Given the description of an element on the screen output the (x, y) to click on. 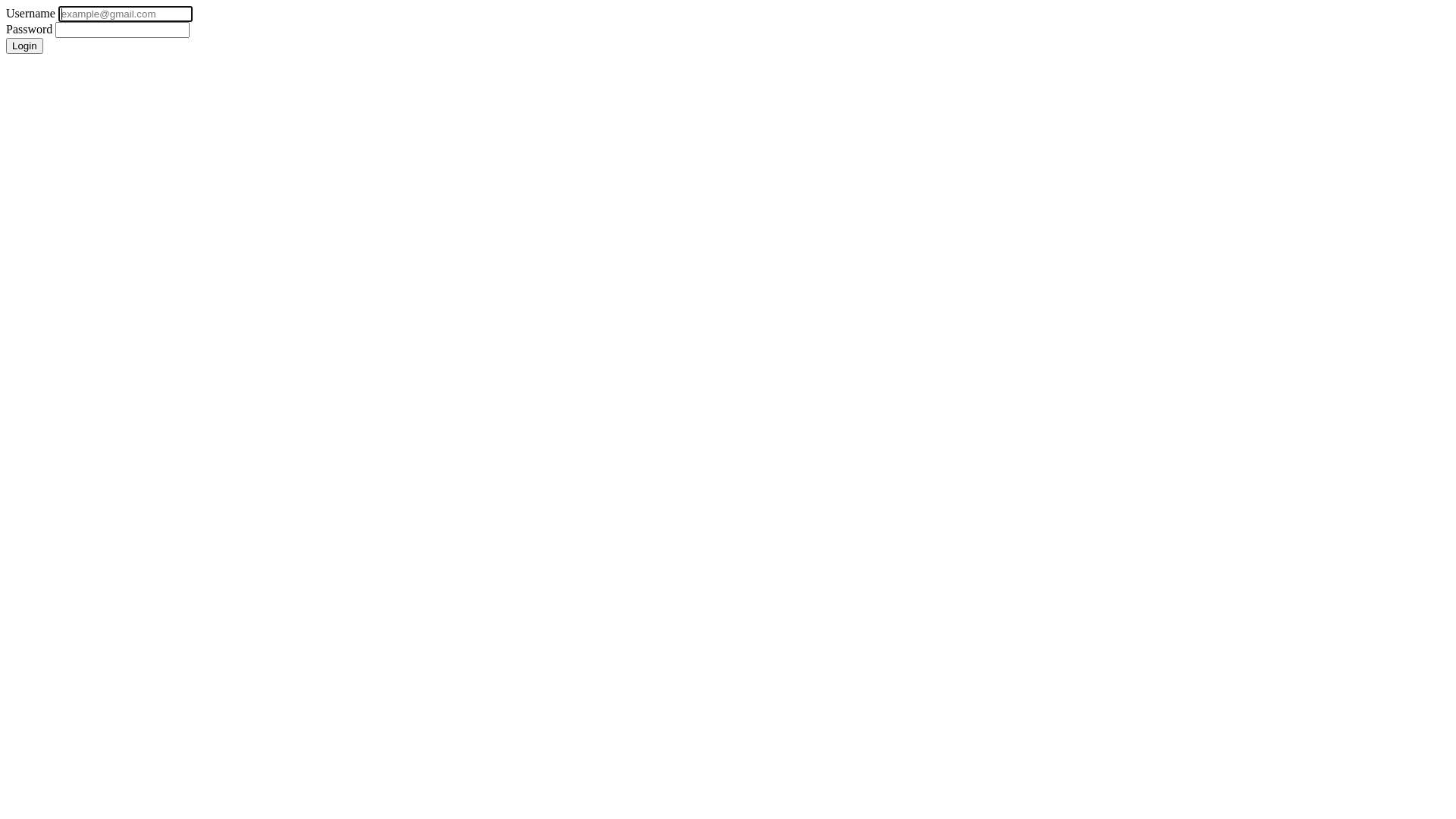
Login Element type: text (24, 45)
Please enter you username Element type: hover (125, 13)
Please enter your password Element type: hover (122, 29)
